Given the description of an element on the screen output the (x, y) to click on. 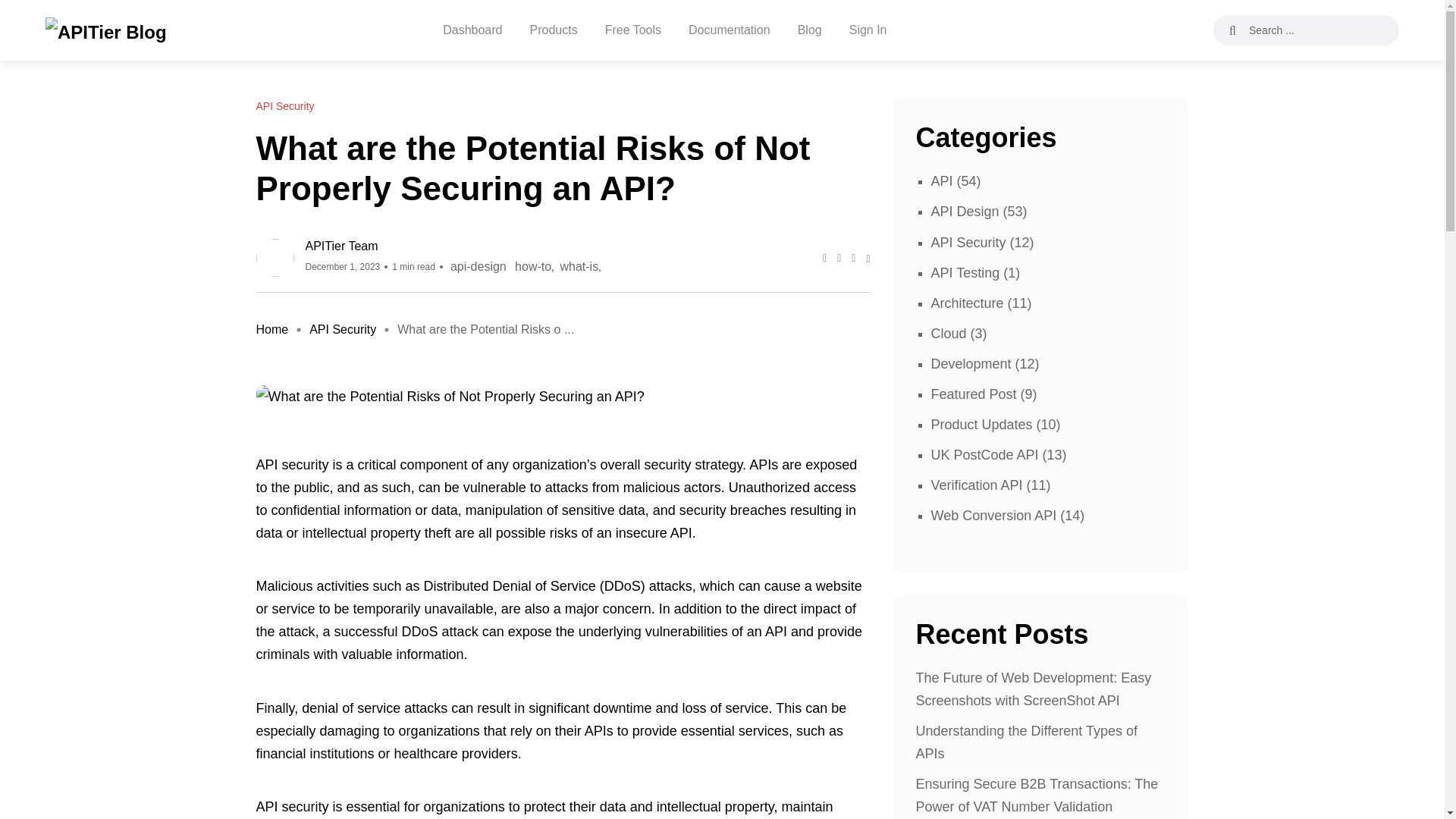
api-design (477, 266)
Dashboard (472, 30)
Documentation (729, 30)
API Security (341, 328)
what-is (578, 266)
API Security (285, 105)
Free Tools (633, 30)
APITier Team (452, 246)
how-to (533, 266)
